Given the description of an element on the screen output the (x, y) to click on. 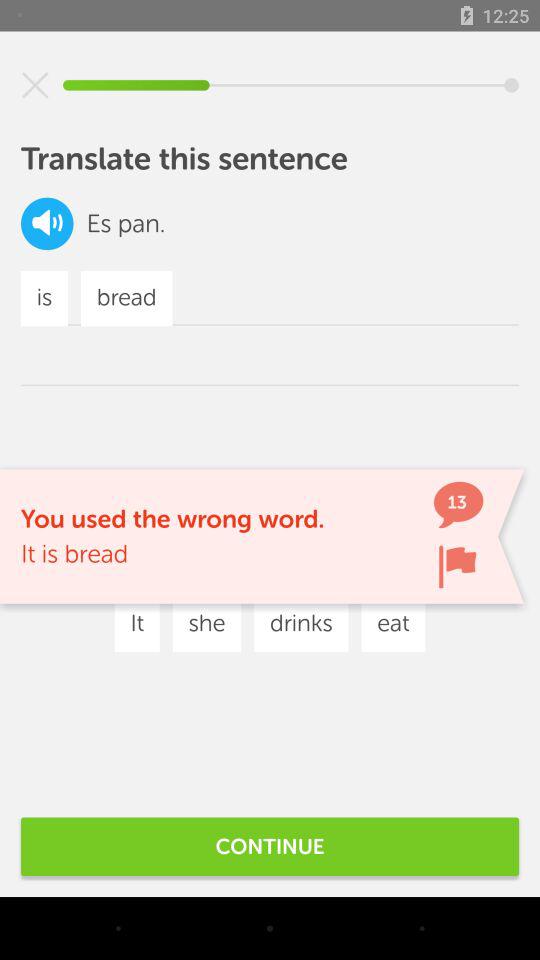
scroll until the she icon (206, 624)
